Given the description of an element on the screen output the (x, y) to click on. 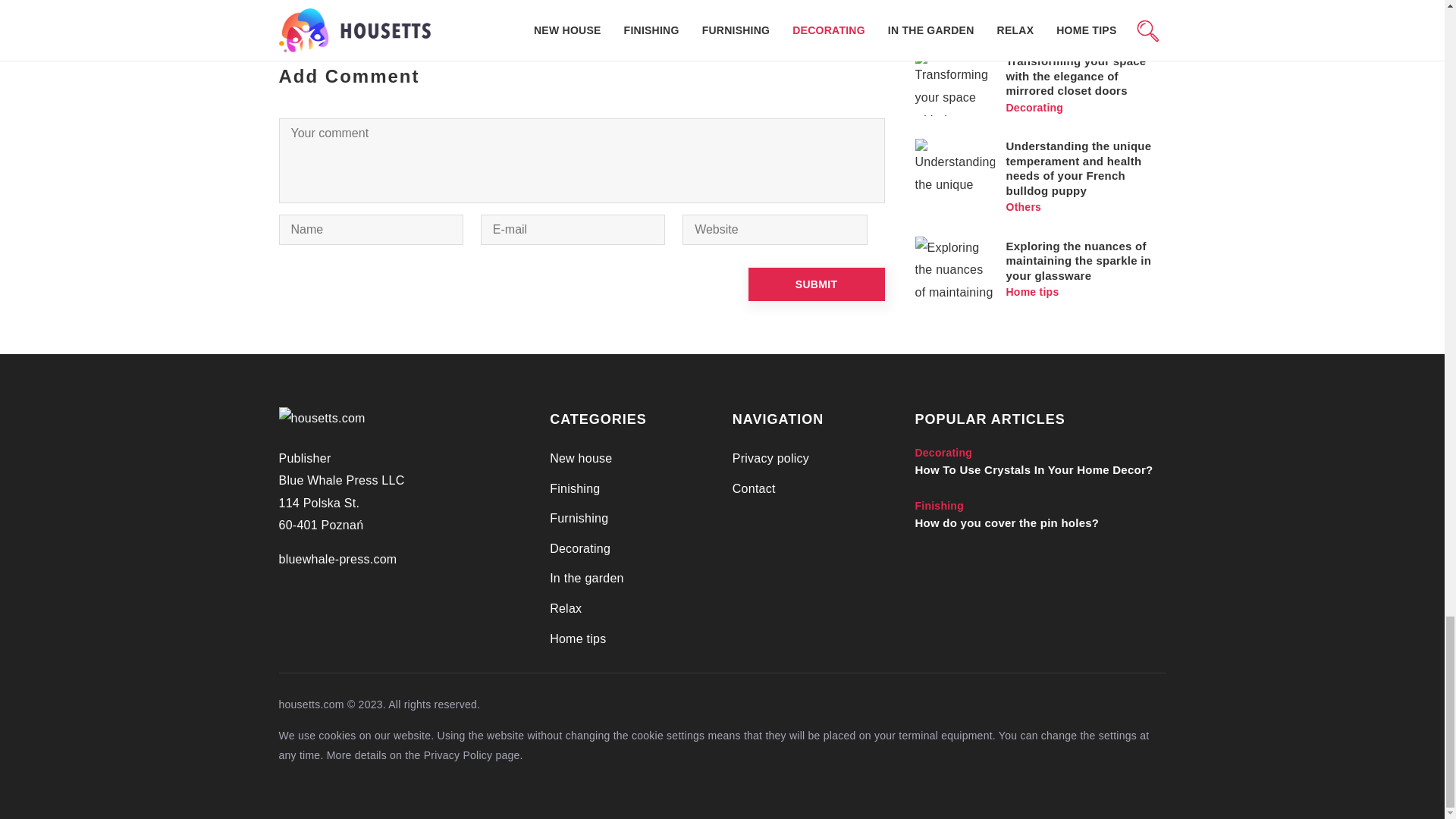
Decorating (580, 548)
Wallpaper in leaves and floral motifs for the bedroom (738, 7)
How to decorate the living room in boho style? (424, 7)
Furnishing (579, 517)
In the garden (587, 577)
Submit (815, 284)
bluewhale-press.com (338, 558)
New house (580, 458)
Finishing (574, 488)
Submit (815, 284)
